Given the description of an element on the screen output the (x, y) to click on. 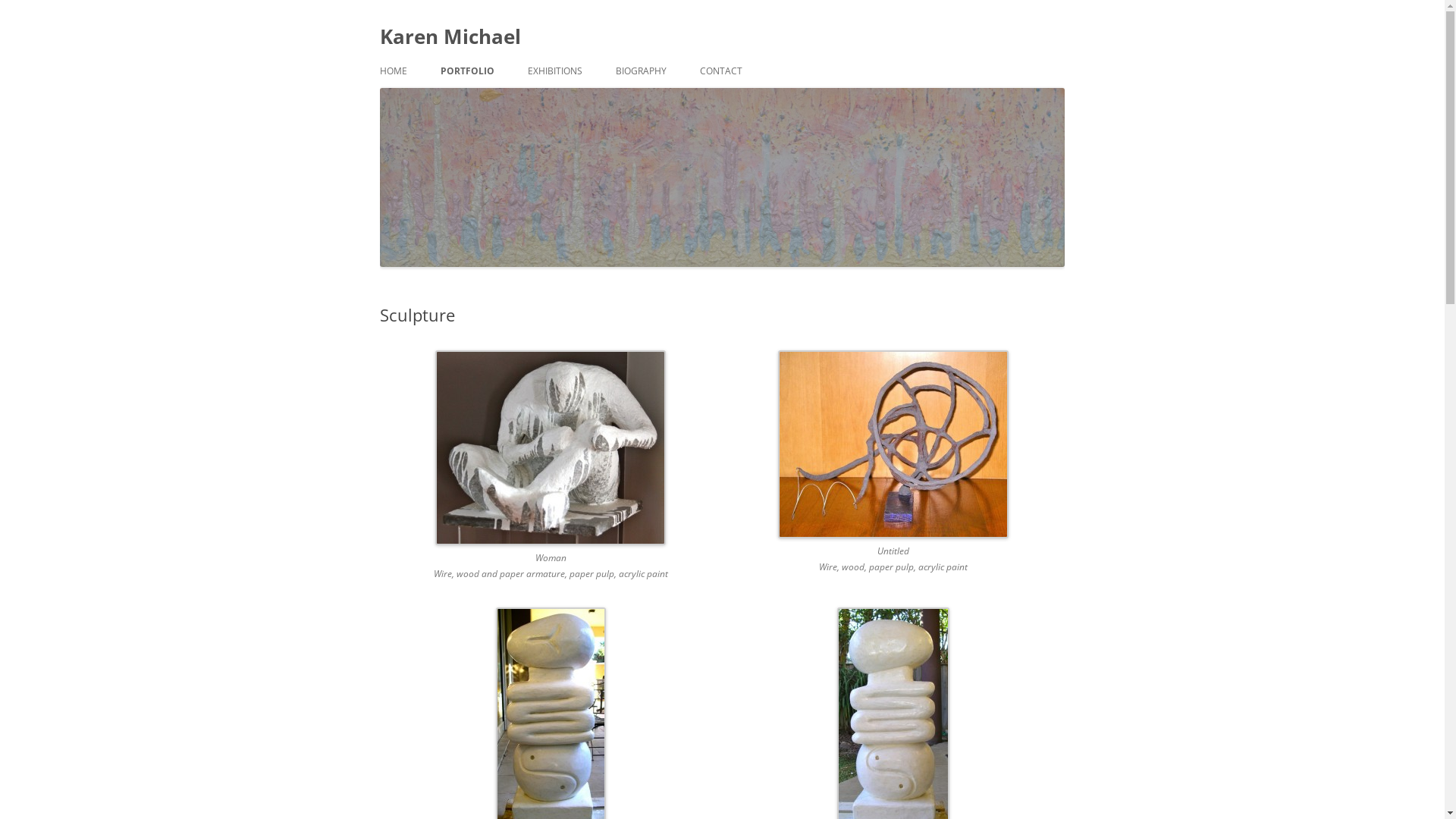
Skip to content Element type: text (721, 54)
Karen Michael Element type: text (449, 36)
BIOGRAPHY Element type: text (640, 70)
CONTOURS / CURRENTS Element type: text (515, 103)
PORTFOLIO Element type: text (466, 70)
HOME Element type: text (392, 70)
CONTACT Element type: text (720, 70)
EXHIBITIONS Element type: text (554, 70)
